Given the description of an element on the screen output the (x, y) to click on. 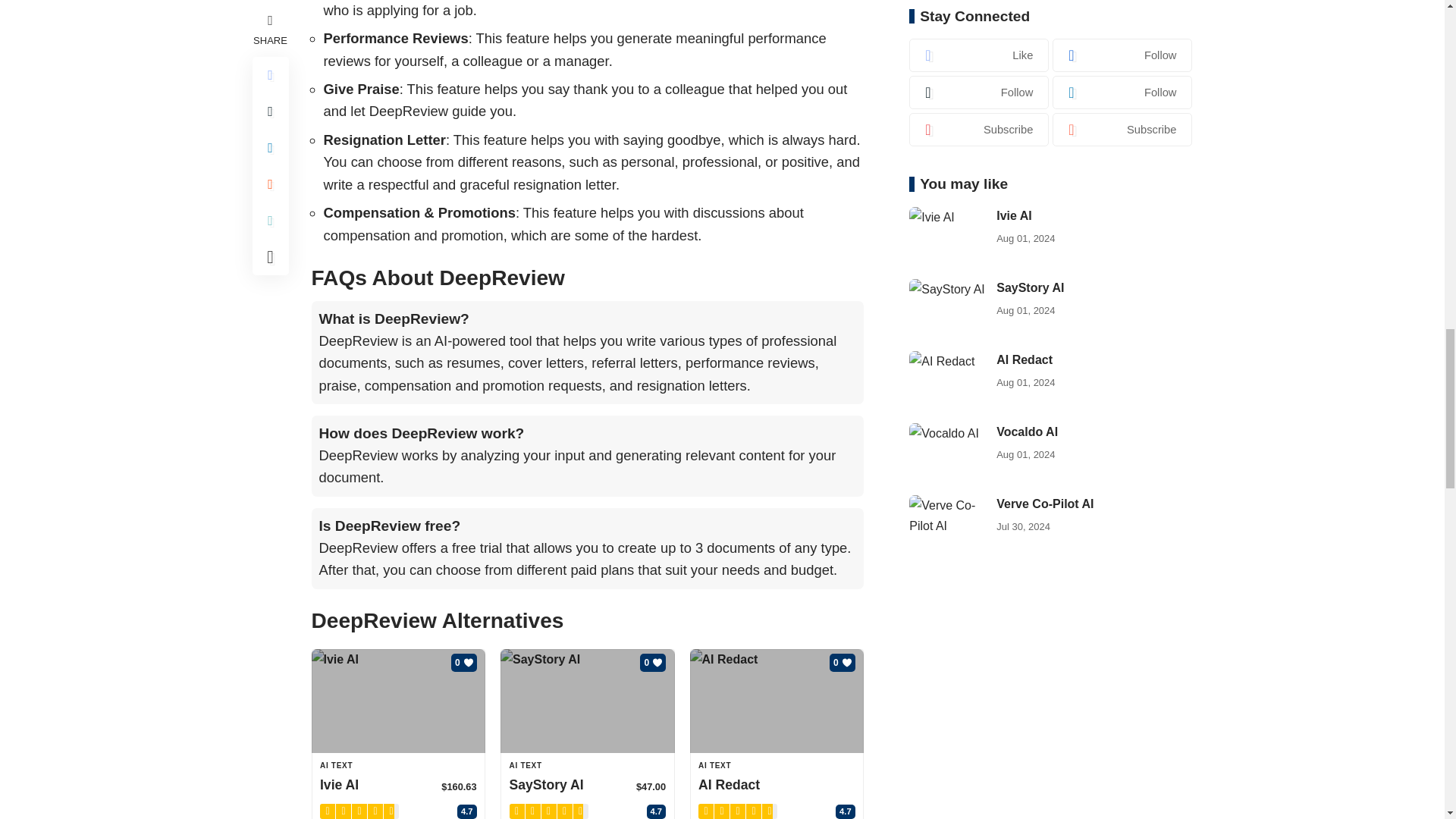
SayStory AI (587, 701)
Ivie AI (397, 701)
AI Redact (777, 701)
